Given the description of an element on the screen output the (x, y) to click on. 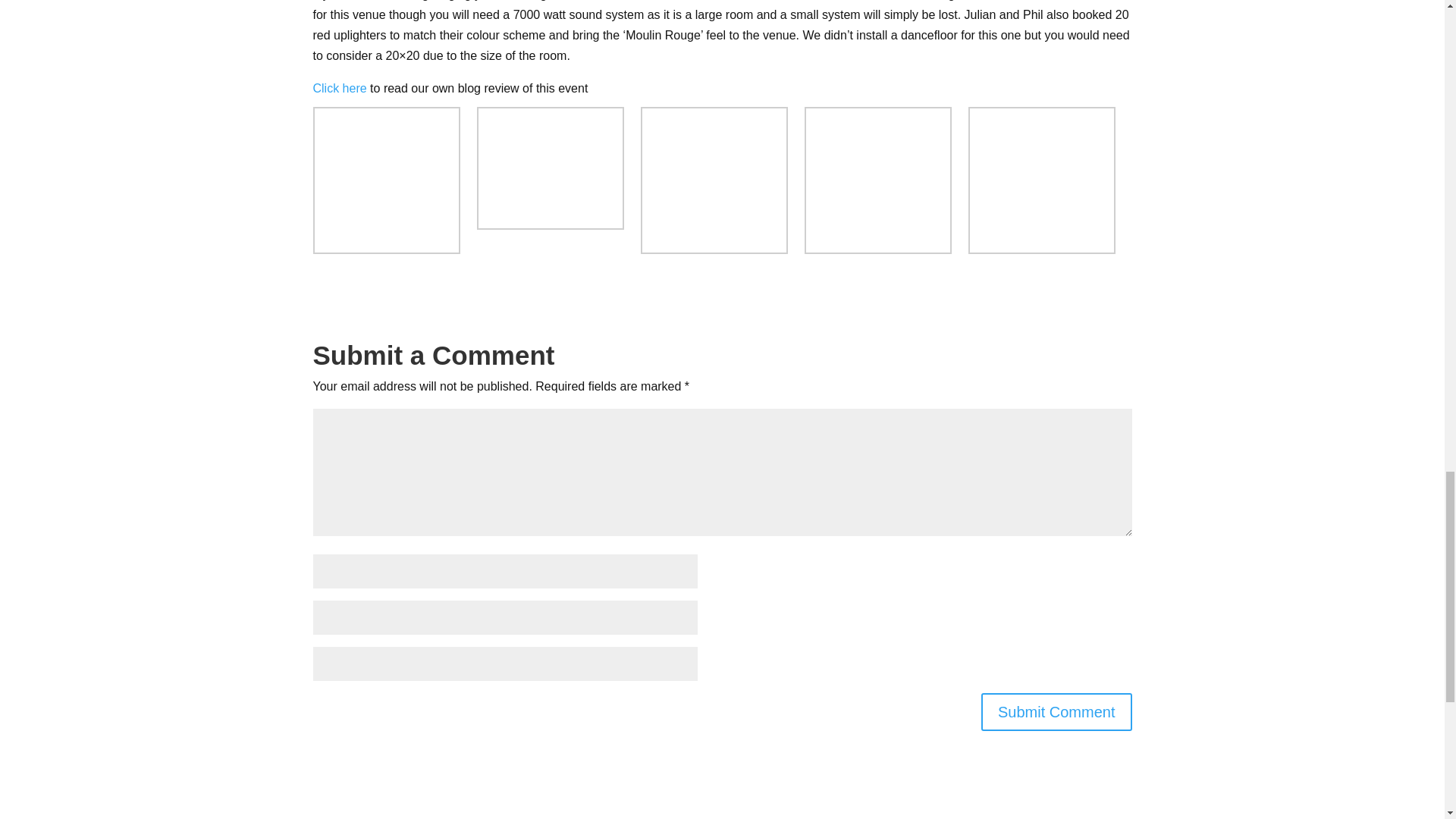
Submit Comment (1056, 711)
